Given the description of an element on the screen output the (x, y) to click on. 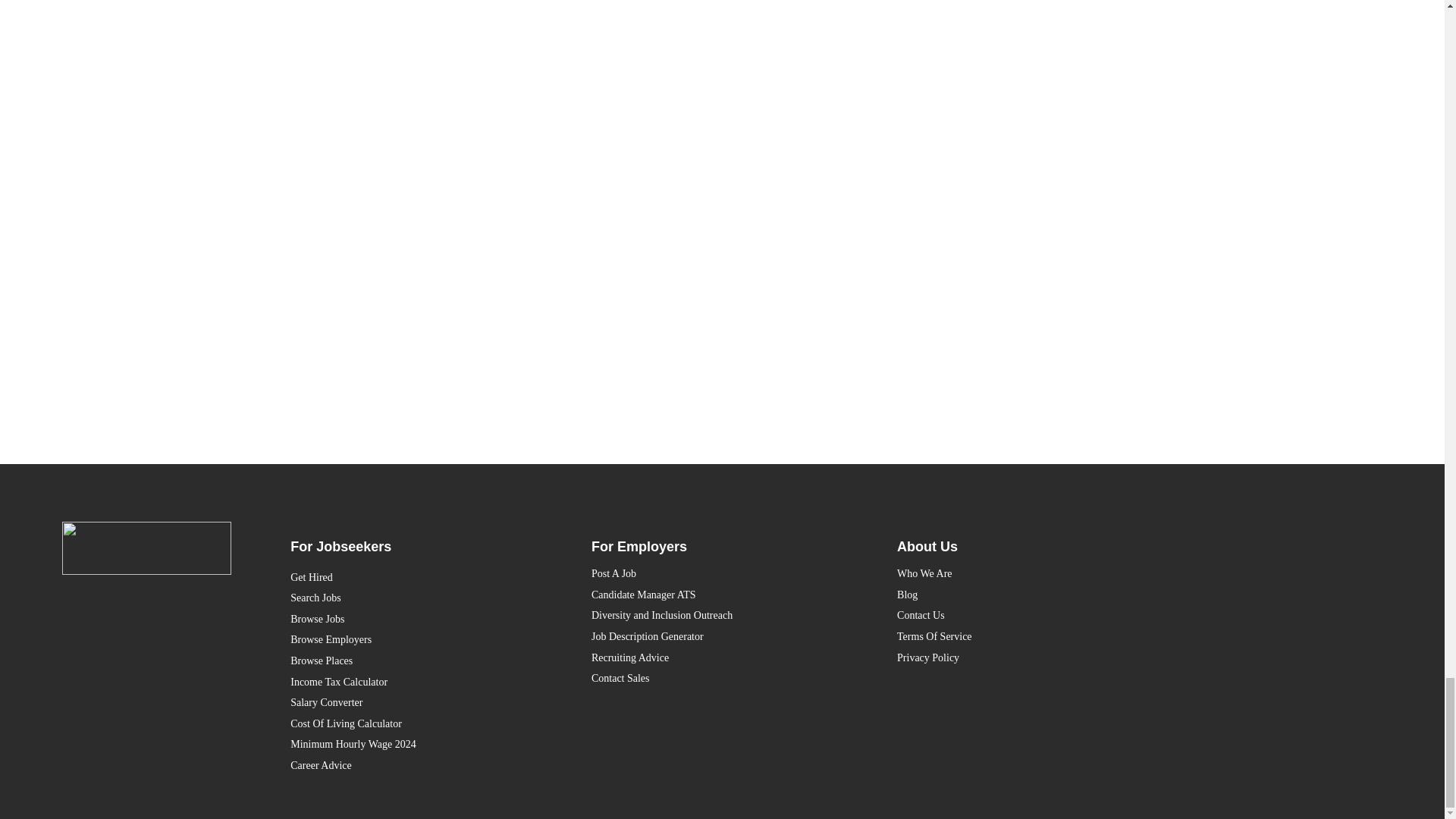
Browse Jobs (410, 619)
Get Hired (410, 577)
Search Jobs (410, 598)
Browse Employers (410, 639)
Income Tax Calculator (410, 681)
Browse Places (410, 660)
Salary Converter (410, 702)
